Given the description of an element on the screen output the (x, y) to click on. 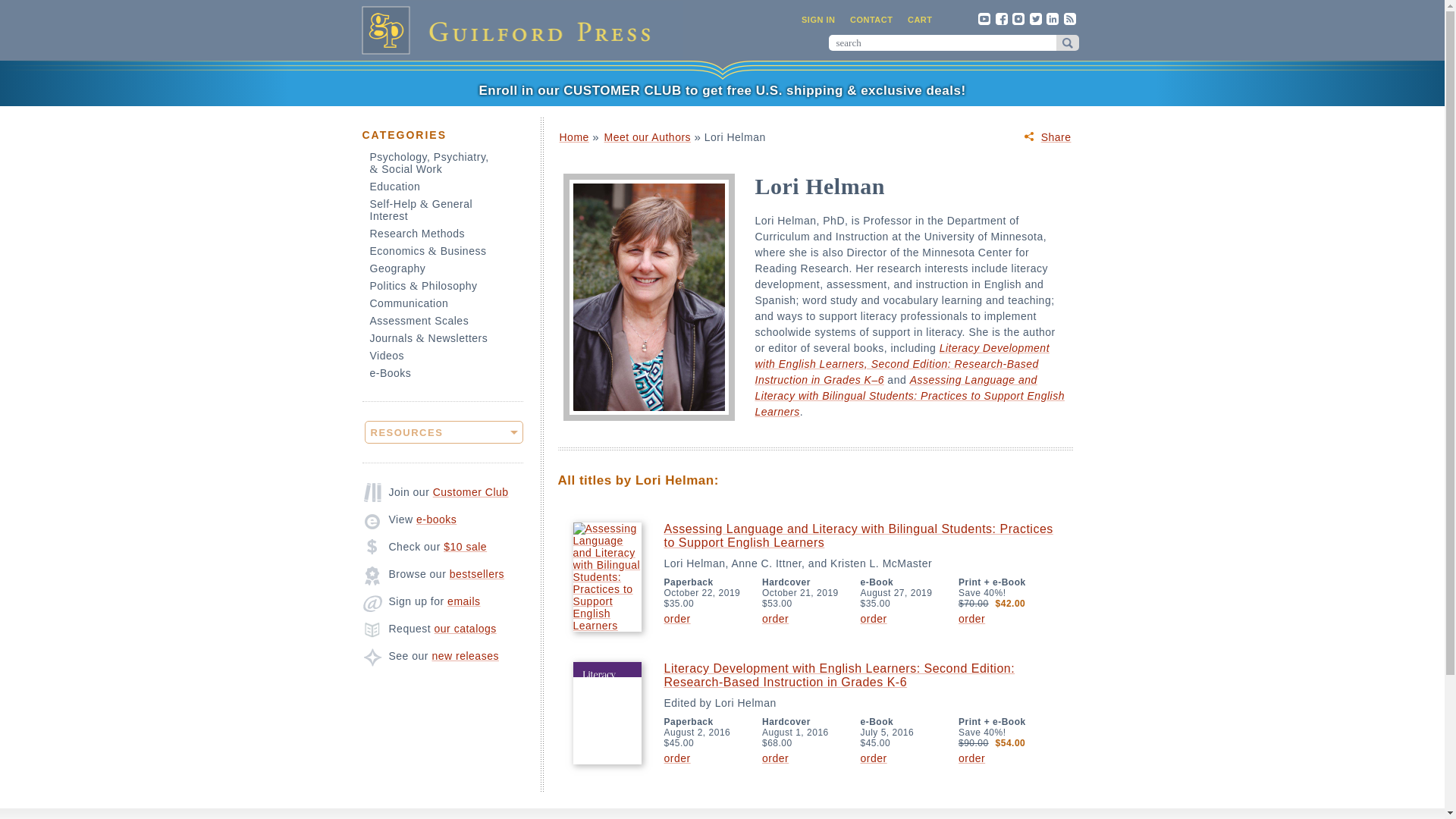
SUBMIT SEARCH (1066, 42)
SIGN IN (818, 19)
CONTACT (871, 19)
CART (920, 19)
